Given the description of an element on the screen output the (x, y) to click on. 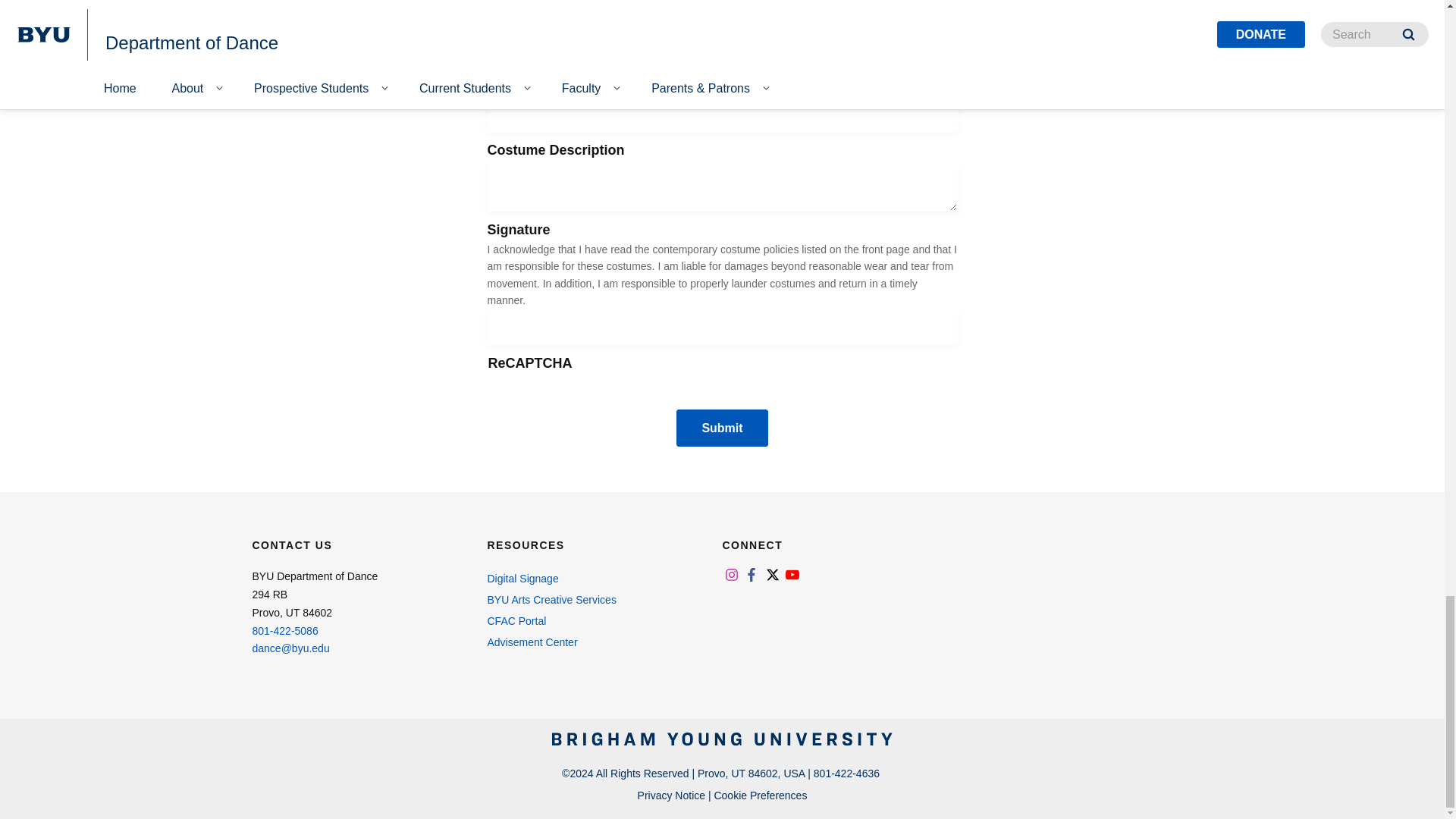
Submit (722, 427)
